Given the description of an element on the screen output the (x, y) to click on. 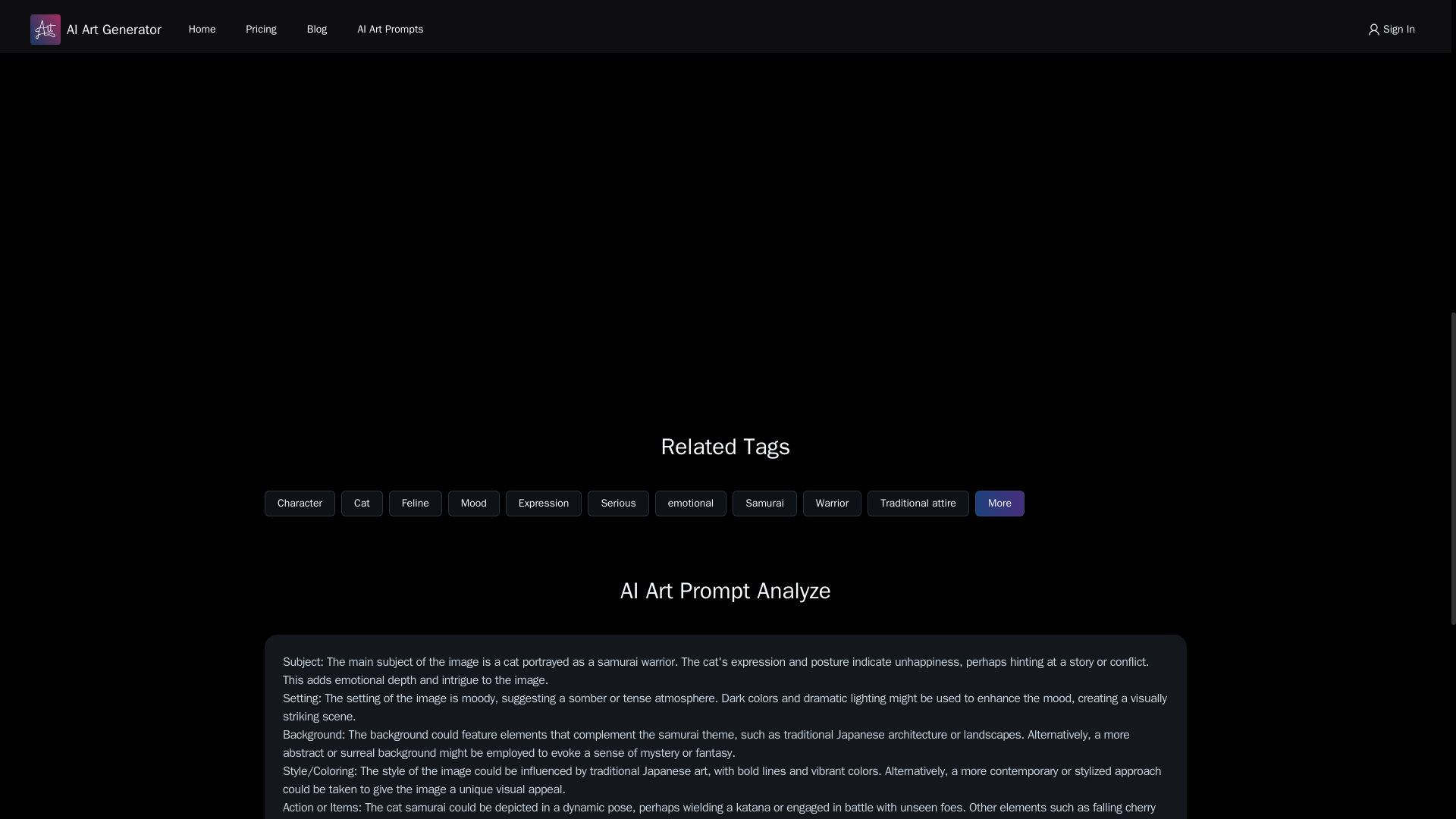
Traditional attire (918, 503)
Feline (415, 503)
Mood (473, 503)
Character (299, 503)
Expression (543, 503)
Samurai (764, 503)
More (1000, 503)
Serious (617, 503)
emotional (690, 503)
Cat (361, 503)
